Given the description of an element on the screen output the (x, y) to click on. 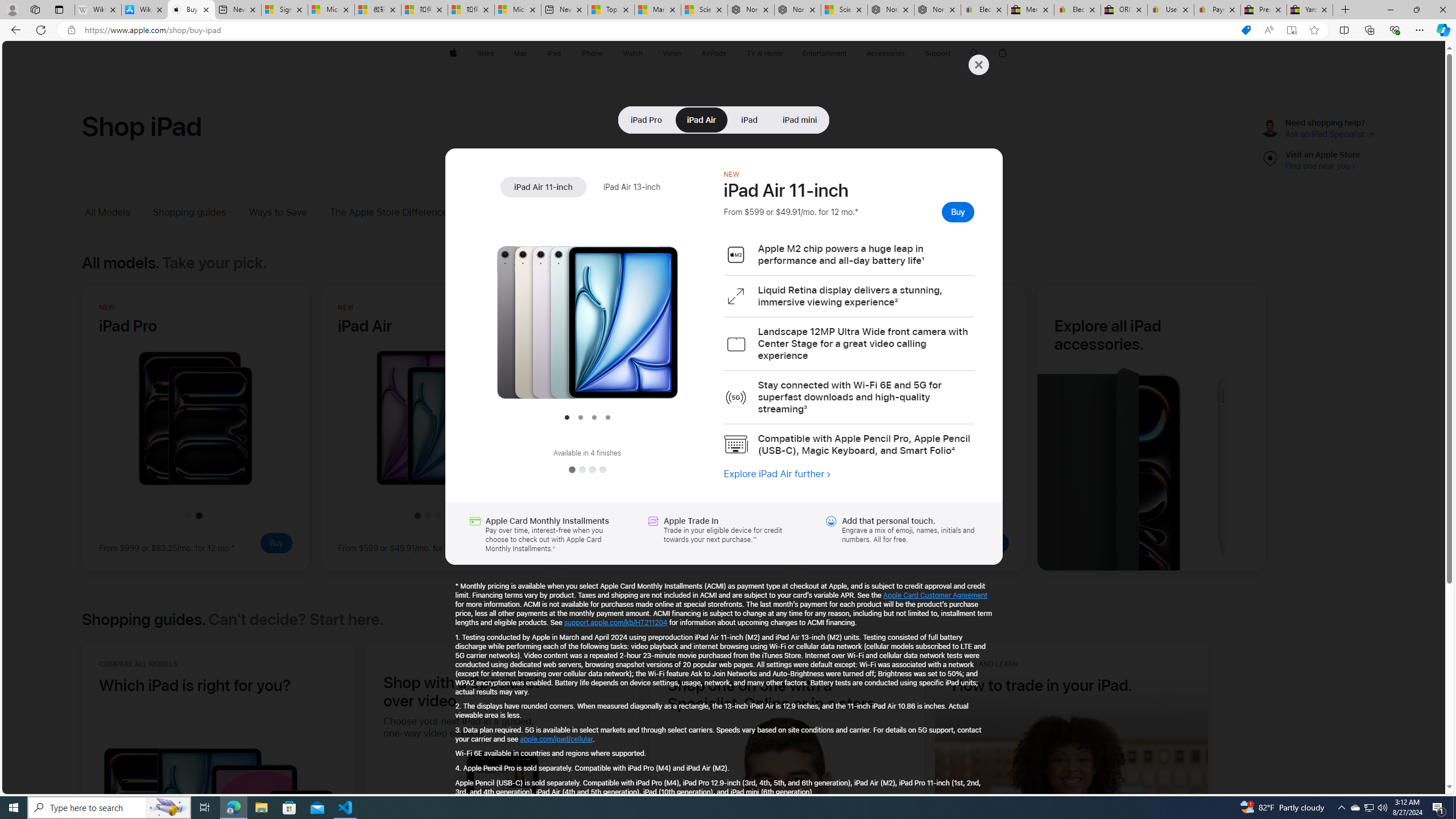
Space Gray (571, 469)
apple.com/ipad/cellular (555, 738)
Blue (581, 469)
iPad Pro (645, 119)
Buy iPad - Apple (191, 9)
Yard, Garden & Outdoor Living (1309, 9)
